Given the description of an element on the screen output the (x, y) to click on. 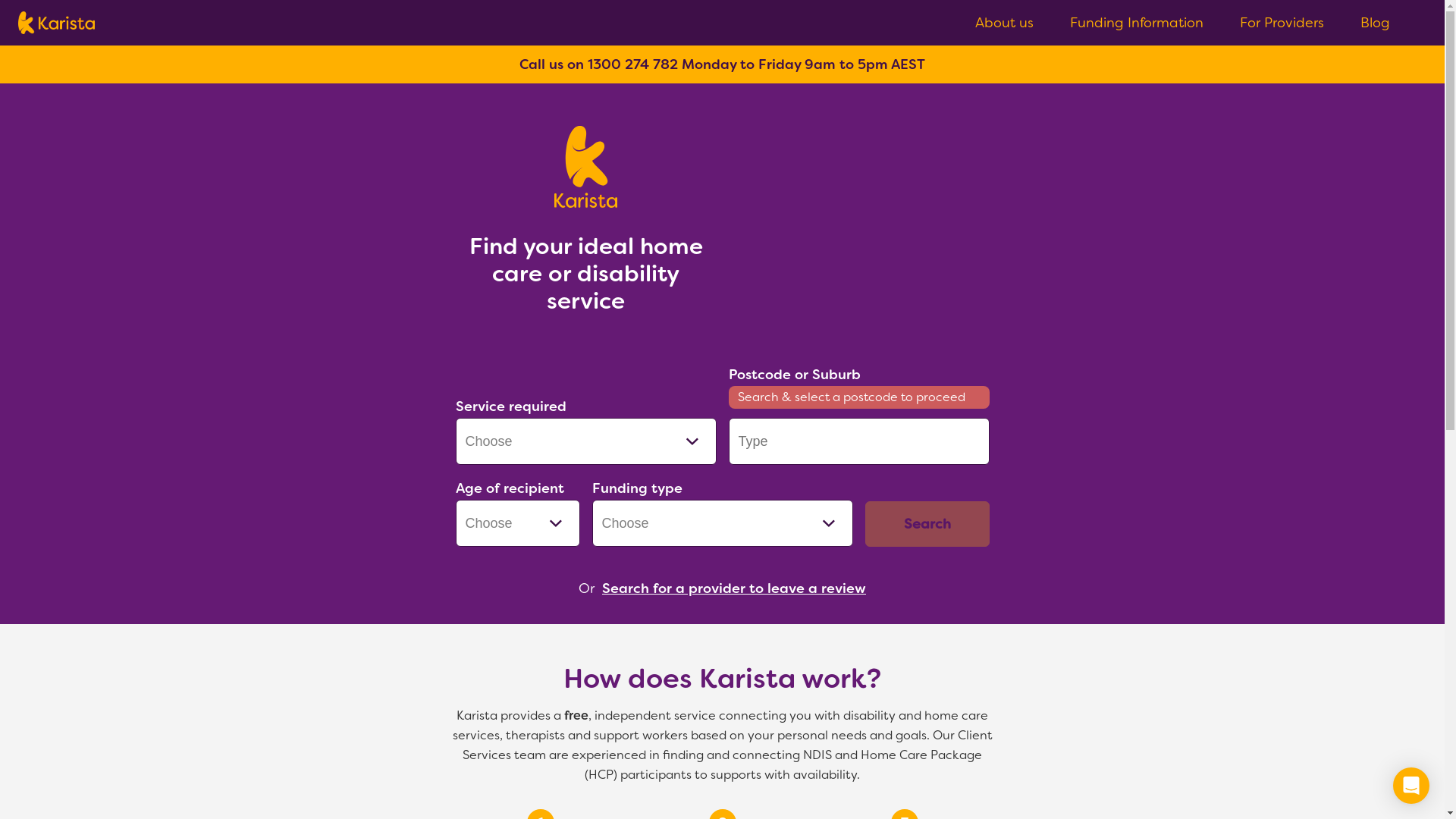
Search for a provider to leave a review Element type: text (734, 588)
Funding Information Element type: text (1136, 22)
Search Element type: text (926, 523)
Blog Element type: text (1375, 22)
For Providers Element type: text (1281, 22)
About us Element type: text (1004, 22)
